Given the description of an element on the screen output the (x, y) to click on. 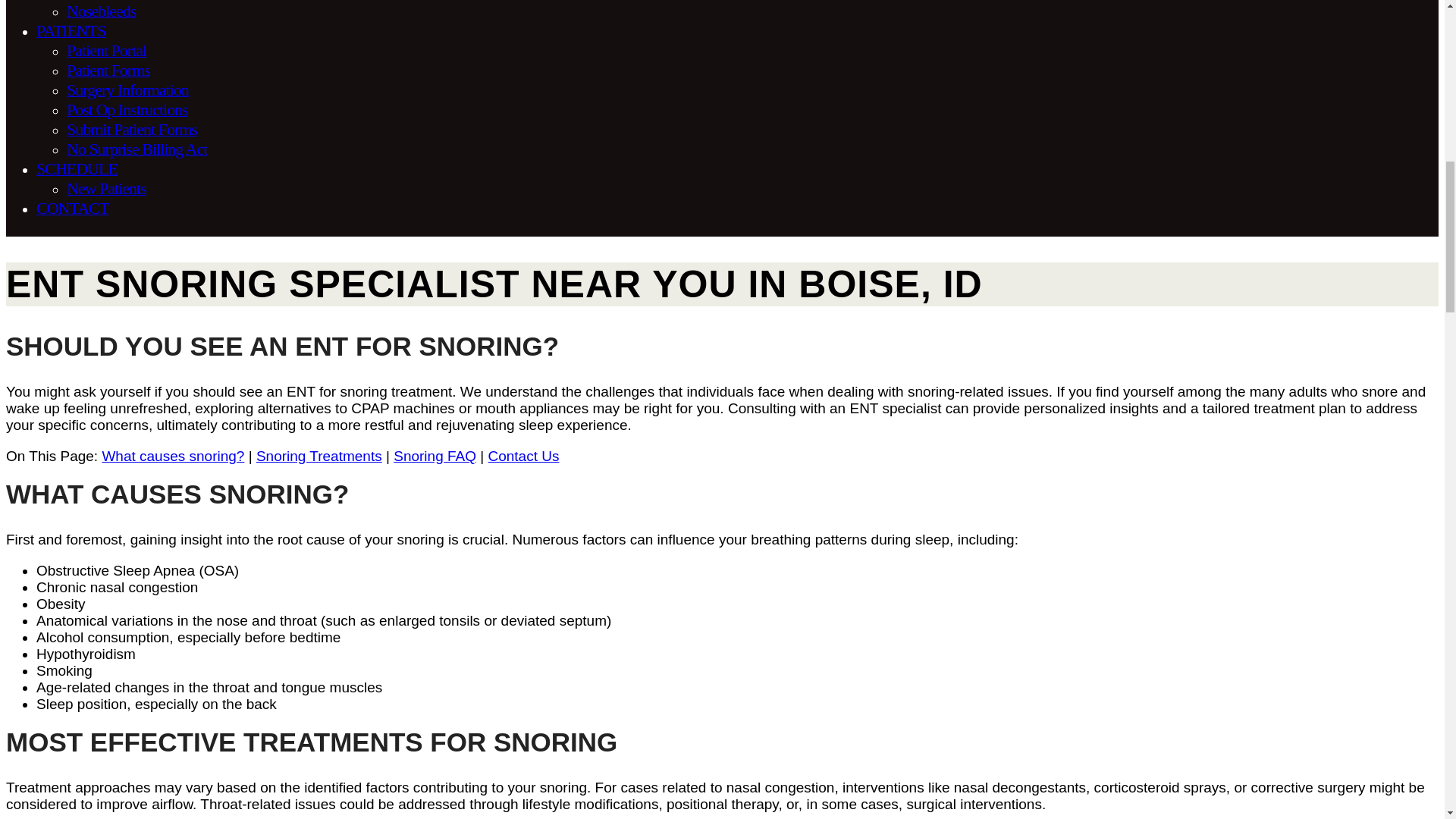
PATIENTS (70, 31)
Nosebleeds (100, 11)
Patient Portal (106, 50)
